Given the description of an element on the screen output the (x, y) to click on. 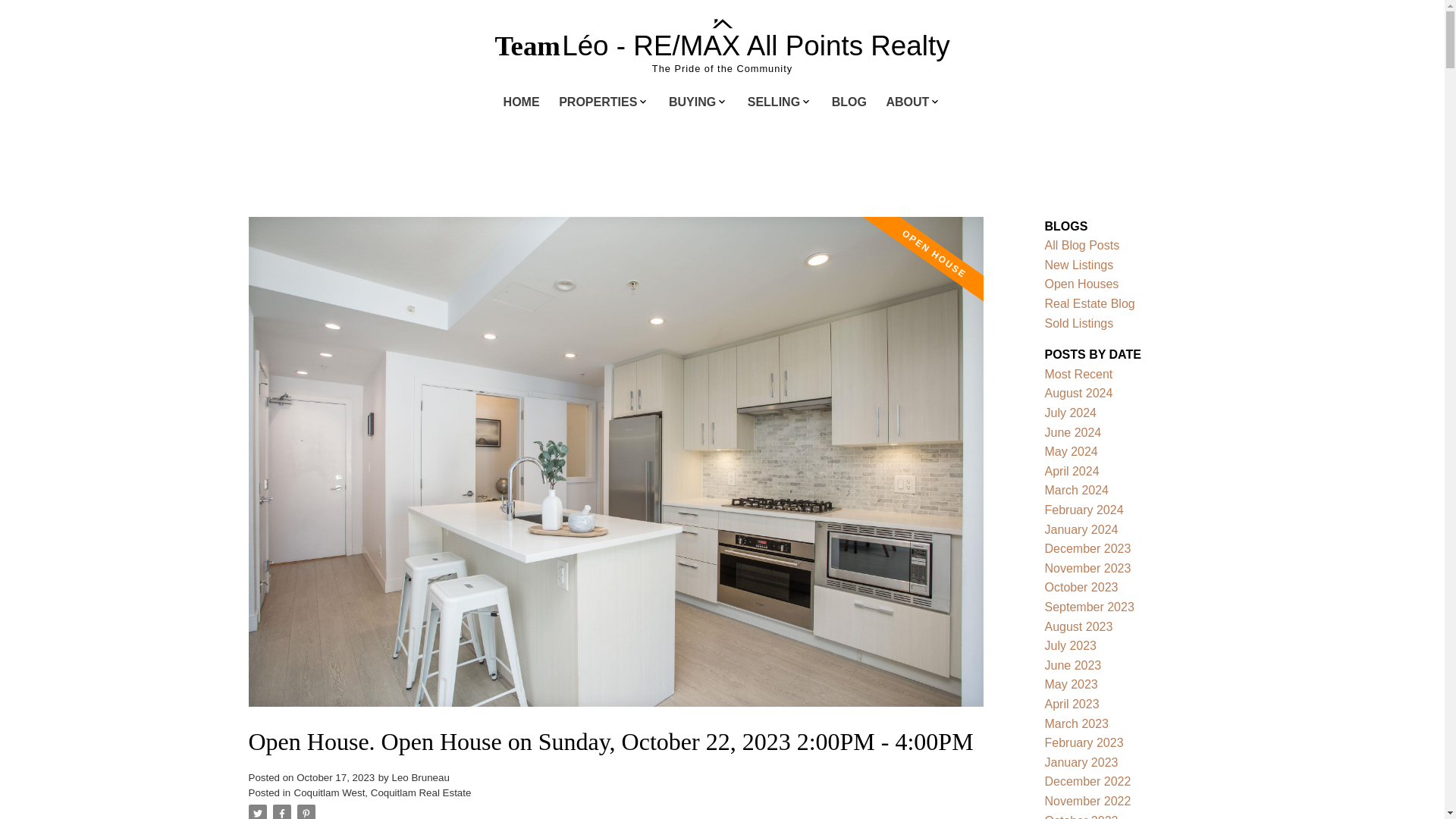
Most Recent (1079, 373)
BLOG (848, 103)
June 2024 (1073, 431)
November 2023 (1088, 567)
August 2023 (1079, 626)
Open Houses (1082, 283)
May 2024 (1071, 451)
April 2024 (1072, 471)
September 2023 (1089, 606)
HOME (521, 103)
